Given the description of an element on the screen output the (x, y) to click on. 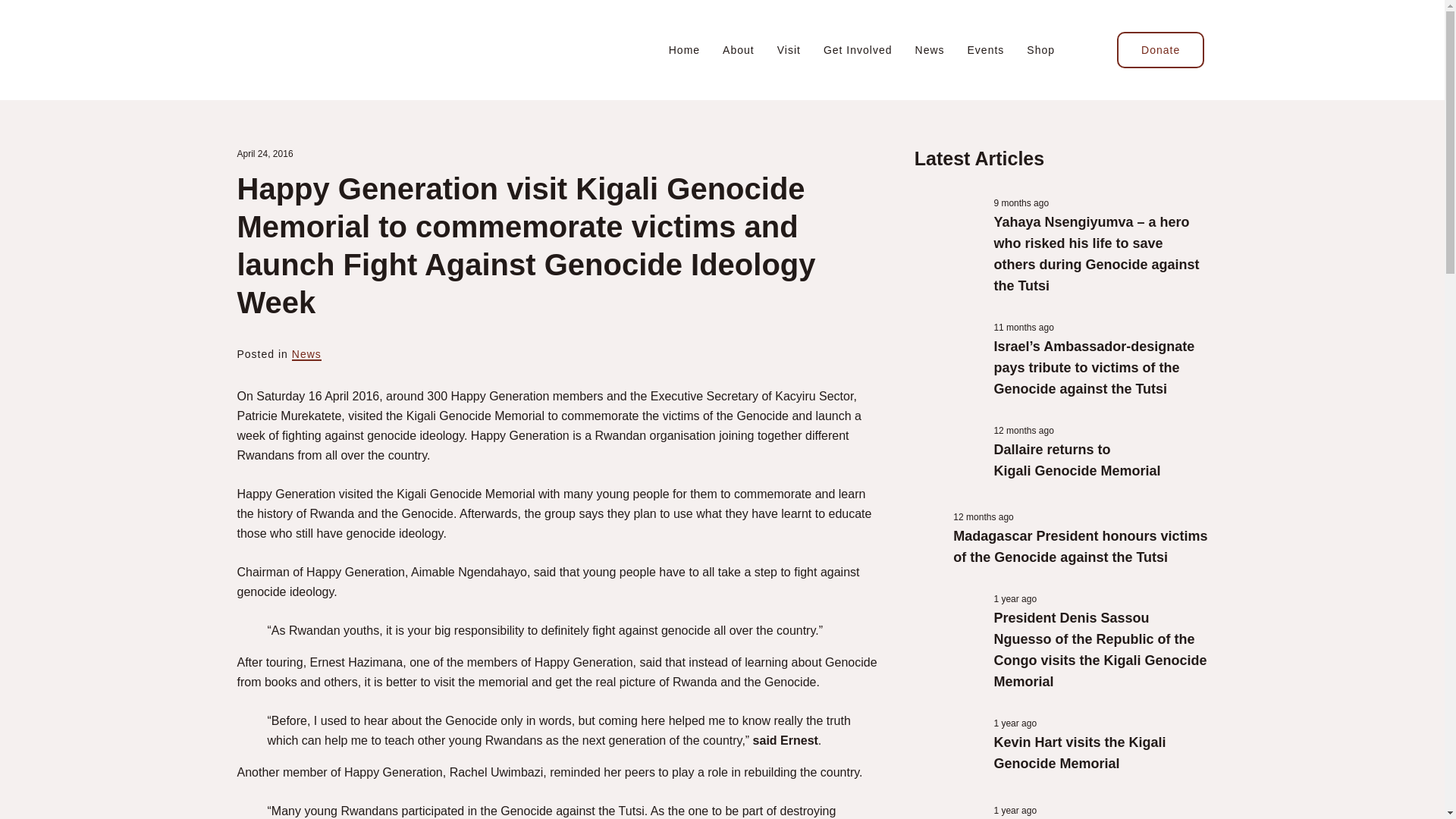
news-placeholder-image (946, 622)
Events (986, 49)
About (738, 49)
Home (684, 49)
news-placeholder-image (946, 746)
News (929, 49)
Get Involved (858, 49)
Shop (1040, 49)
news-placeholder-image (926, 520)
news-placeholder-image (946, 454)
news-placeholder-image (946, 226)
Visit (788, 49)
news-placeholder-image (946, 810)
